Given the description of an element on the screen output the (x, y) to click on. 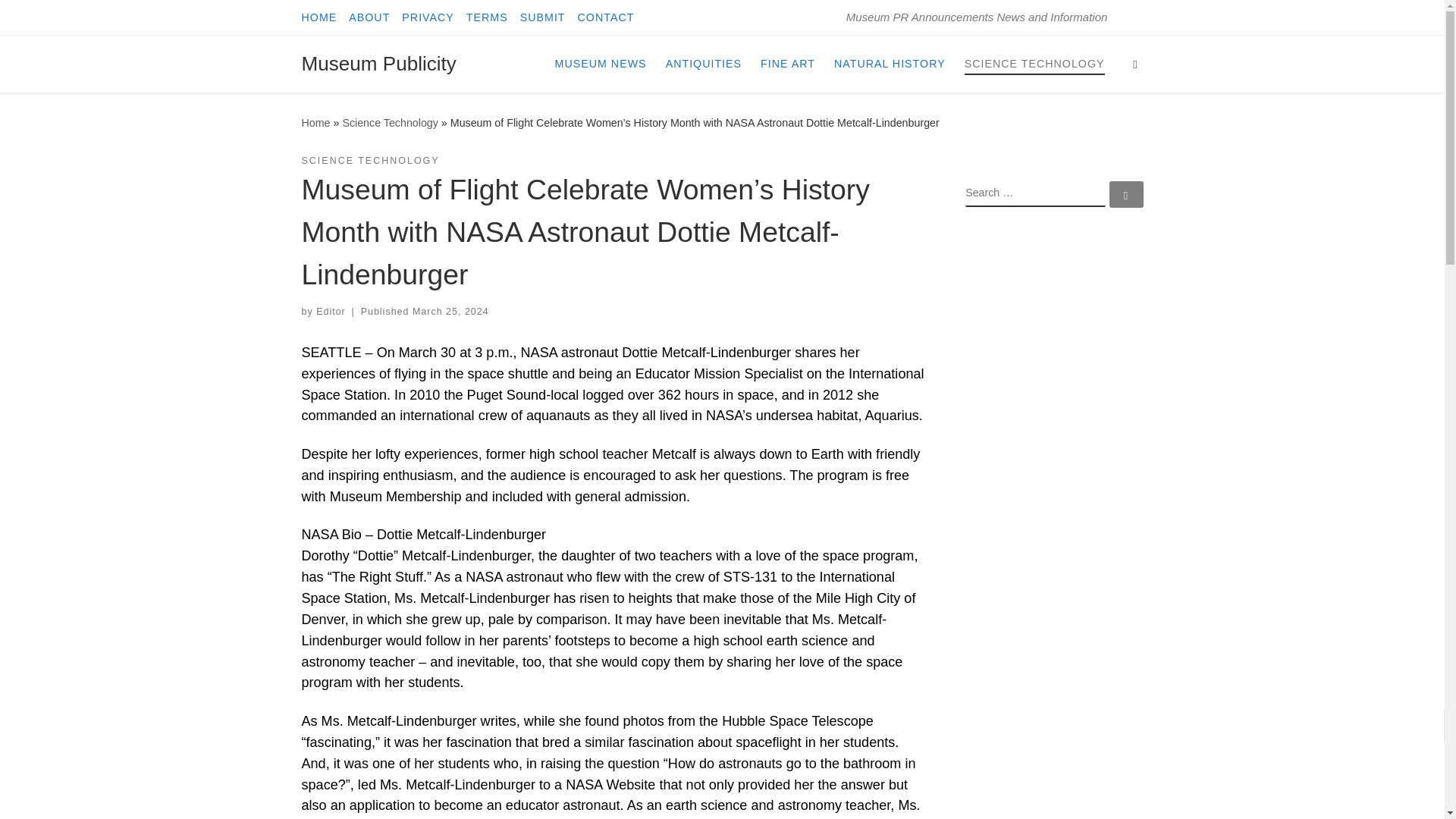
Skip to content (60, 20)
PRIVACY (427, 17)
View all posts in Science Technology (370, 160)
NATURAL HISTORY (889, 63)
SCIENCE TECHNOLOGY (370, 160)
ABOUT (369, 17)
8:17 pm (450, 311)
CONTACT (606, 17)
Home (315, 122)
Advertisement (1054, 464)
FINE ART (787, 63)
Science Technology (390, 122)
SCIENCE TECHNOLOGY (1033, 63)
Search (1135, 63)
March 25, 2024 (450, 311)
